Given the description of an element on the screen output the (x, y) to click on. 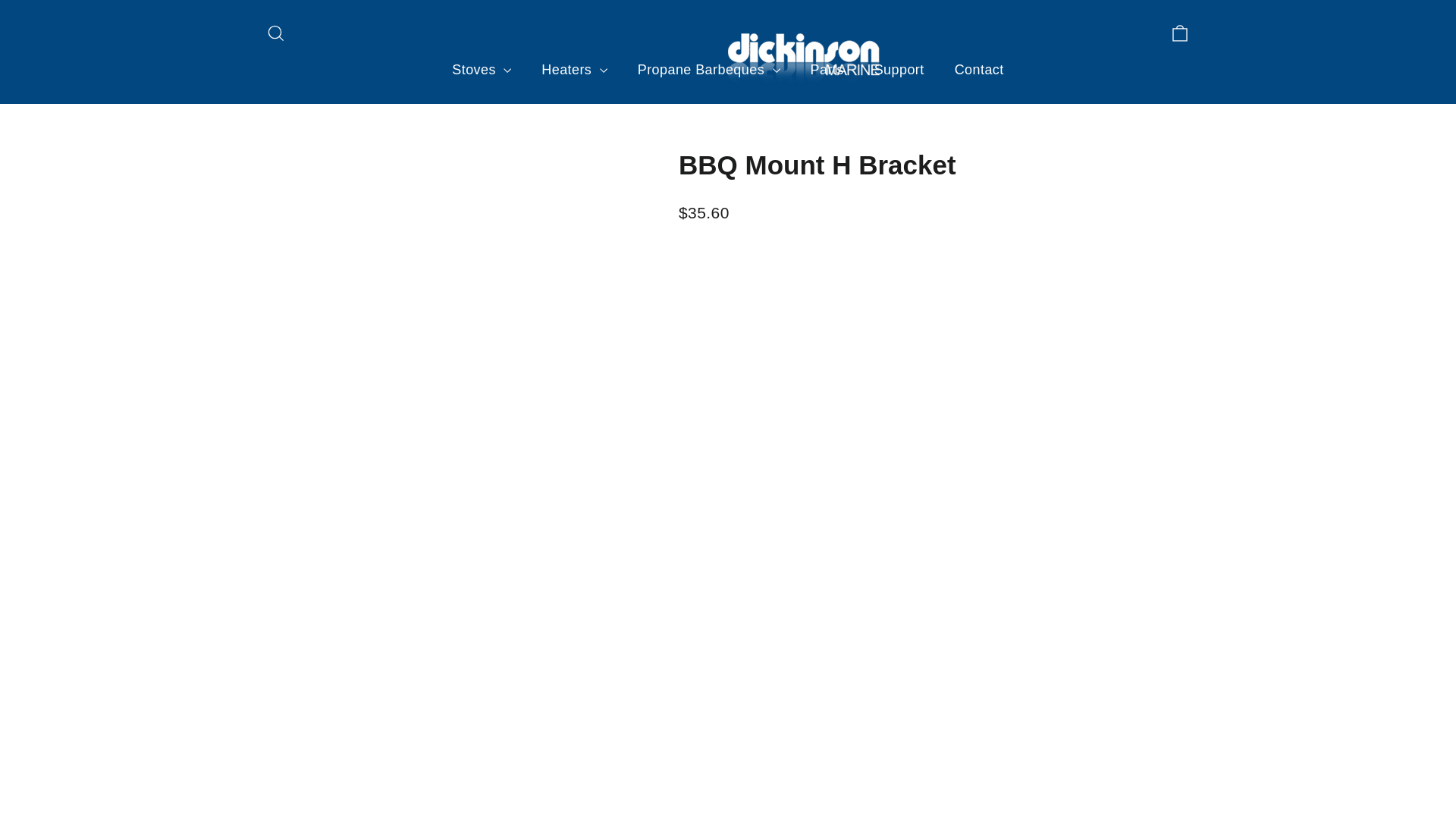
icon-search (275, 33)
icon-bag-minimal (1180, 33)
